Given the description of an element on the screen output the (x, y) to click on. 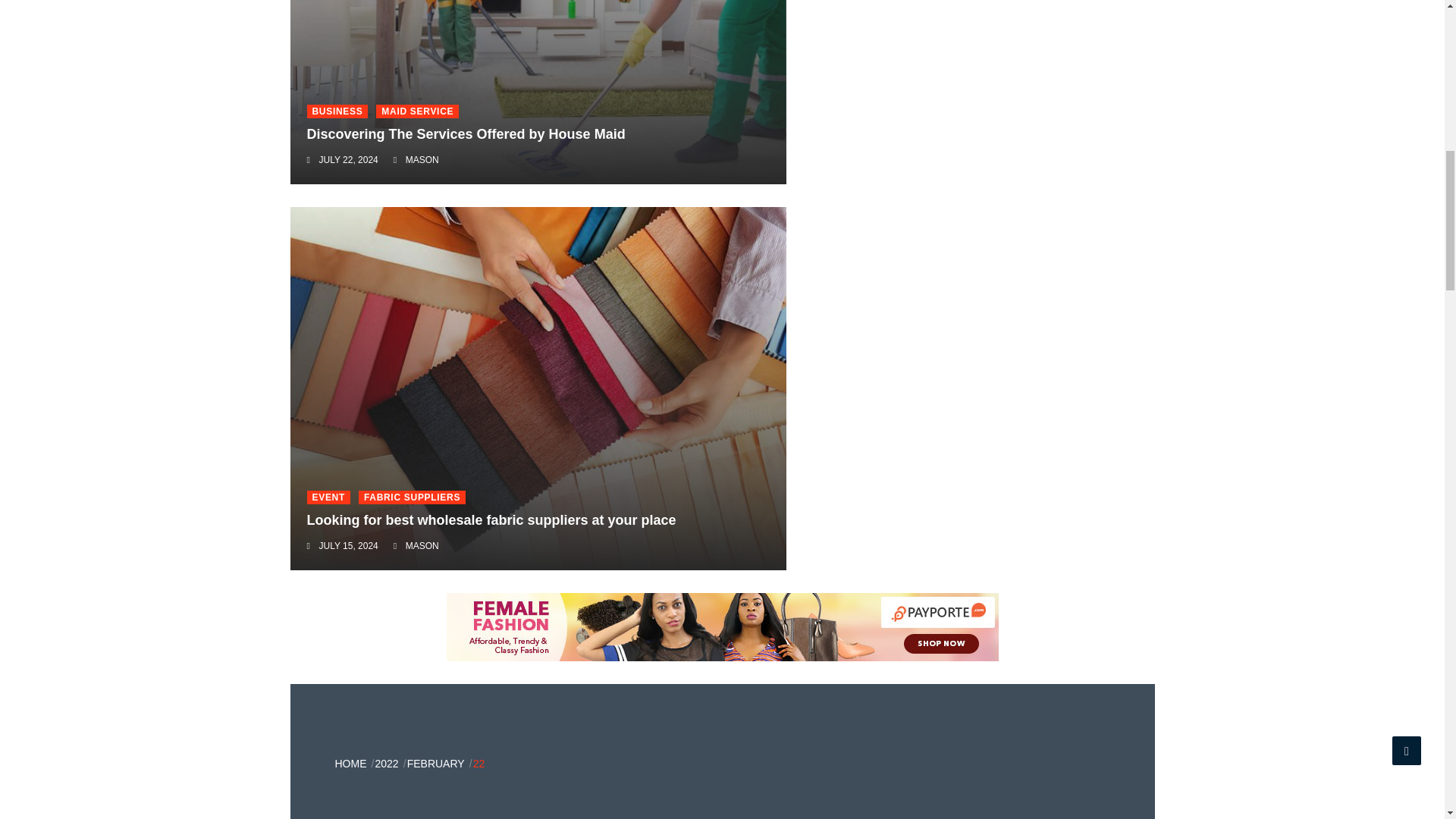
Looking for best wholesale fabric suppliers at your place (490, 519)
MAID SERVICE (416, 110)
FABRIC SUPPLIERS (411, 497)
Discovering The Services Offered by House Maid (464, 133)
JULY 15, 2024 (347, 545)
2022 (385, 763)
FEBRUARY (435, 763)
BUSINESS (336, 110)
MASON (422, 545)
JULY 22, 2024 (347, 159)
